Given the description of an element on the screen output the (x, y) to click on. 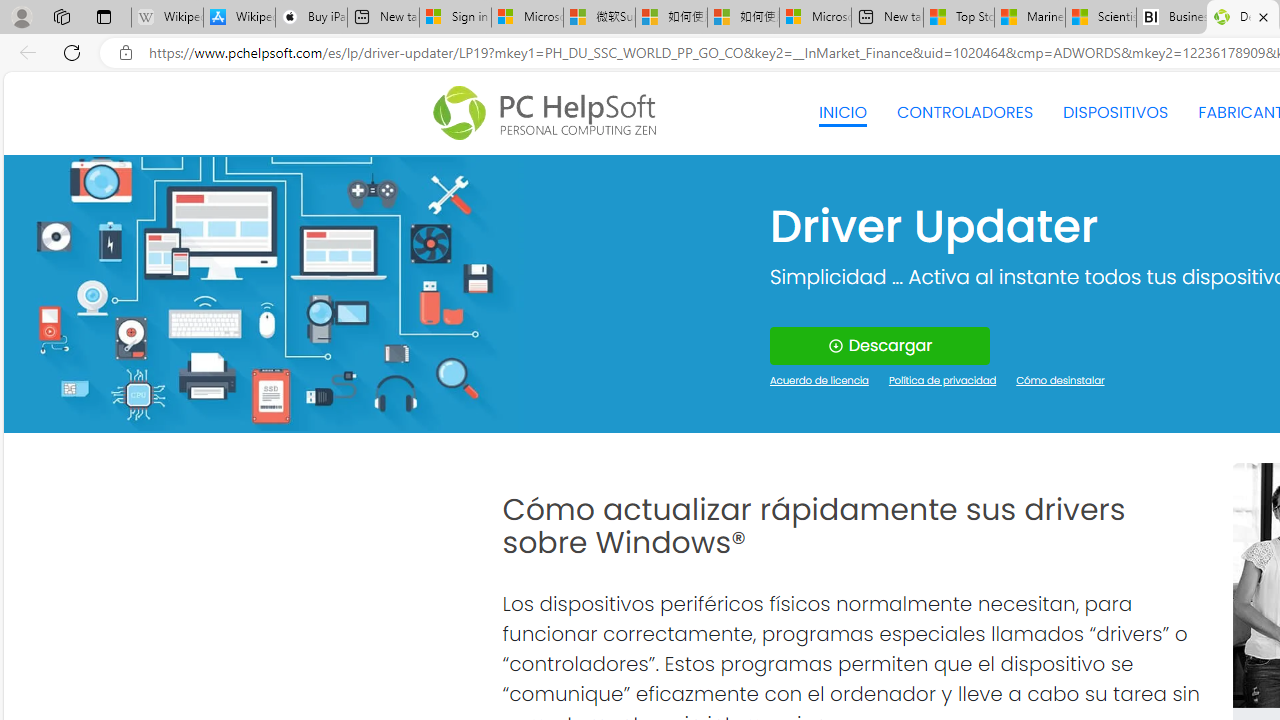
Marine life - MSN (1029, 17)
Microsoft account | Account Checkup (815, 17)
Download Icon Descargar (879, 345)
Generic (263, 293)
Acuerdo de licencia (819, 381)
